Given the description of an element on the screen output the (x, y) to click on. 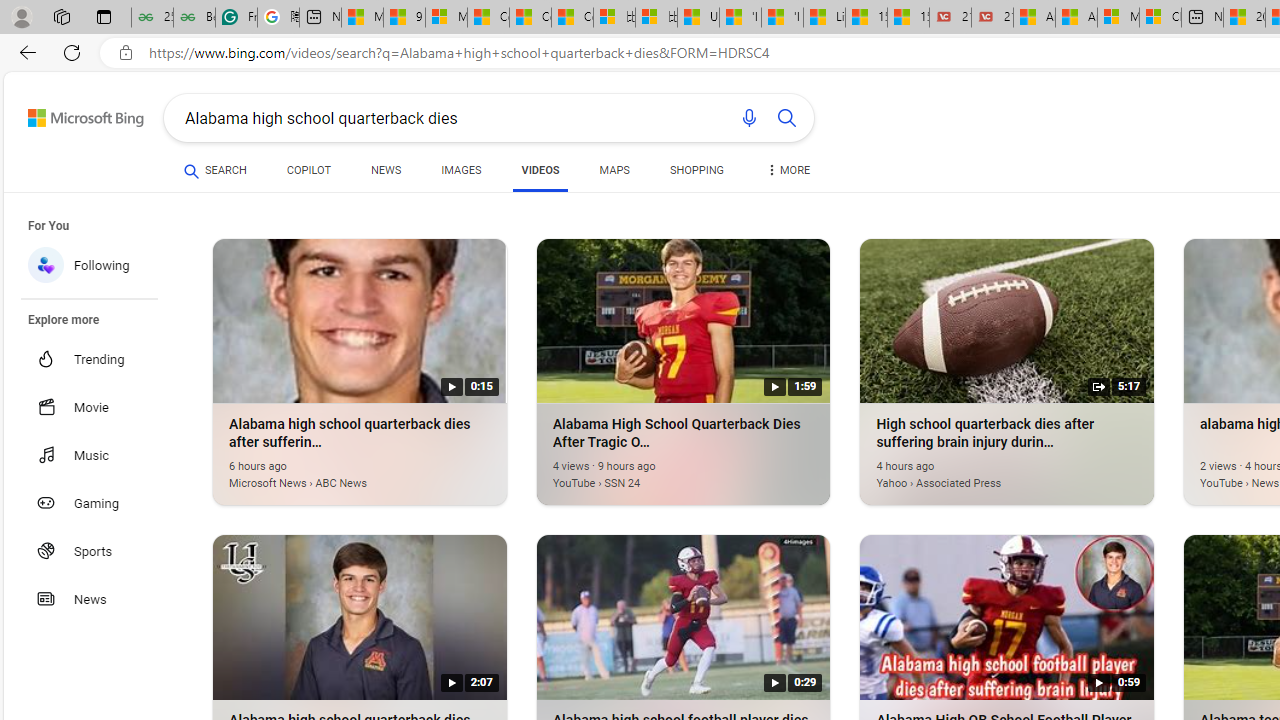
COPILOT (308, 173)
21 Movies That Outdid the Books They Were Based On (991, 17)
NEWS (385, 170)
Dropdown Menu (787, 170)
Movie (99, 406)
